Given the description of an element on the screen output the (x, y) to click on. 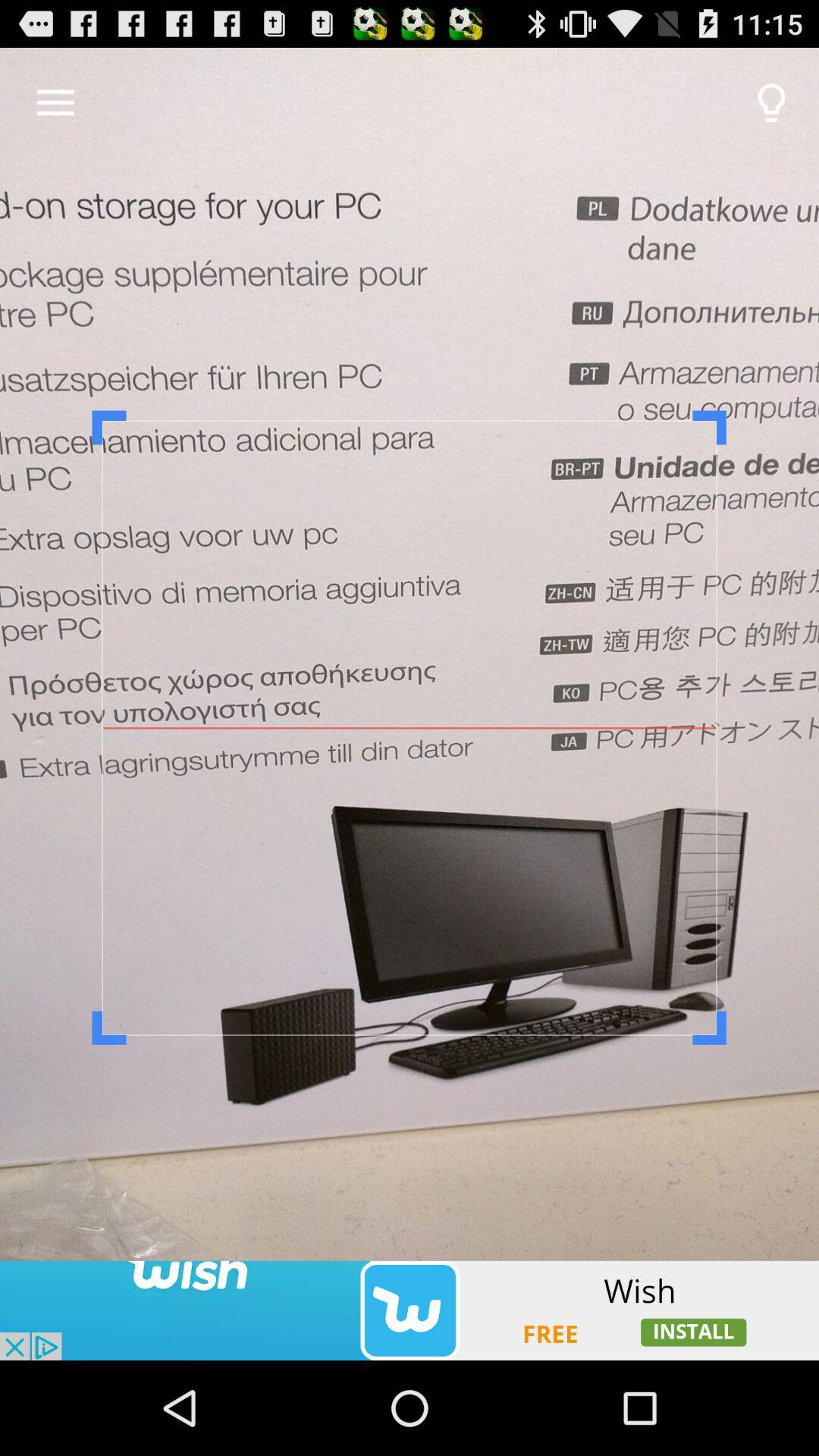
advertisement banner (409, 1310)
